Given the description of an element on the screen output the (x, y) to click on. 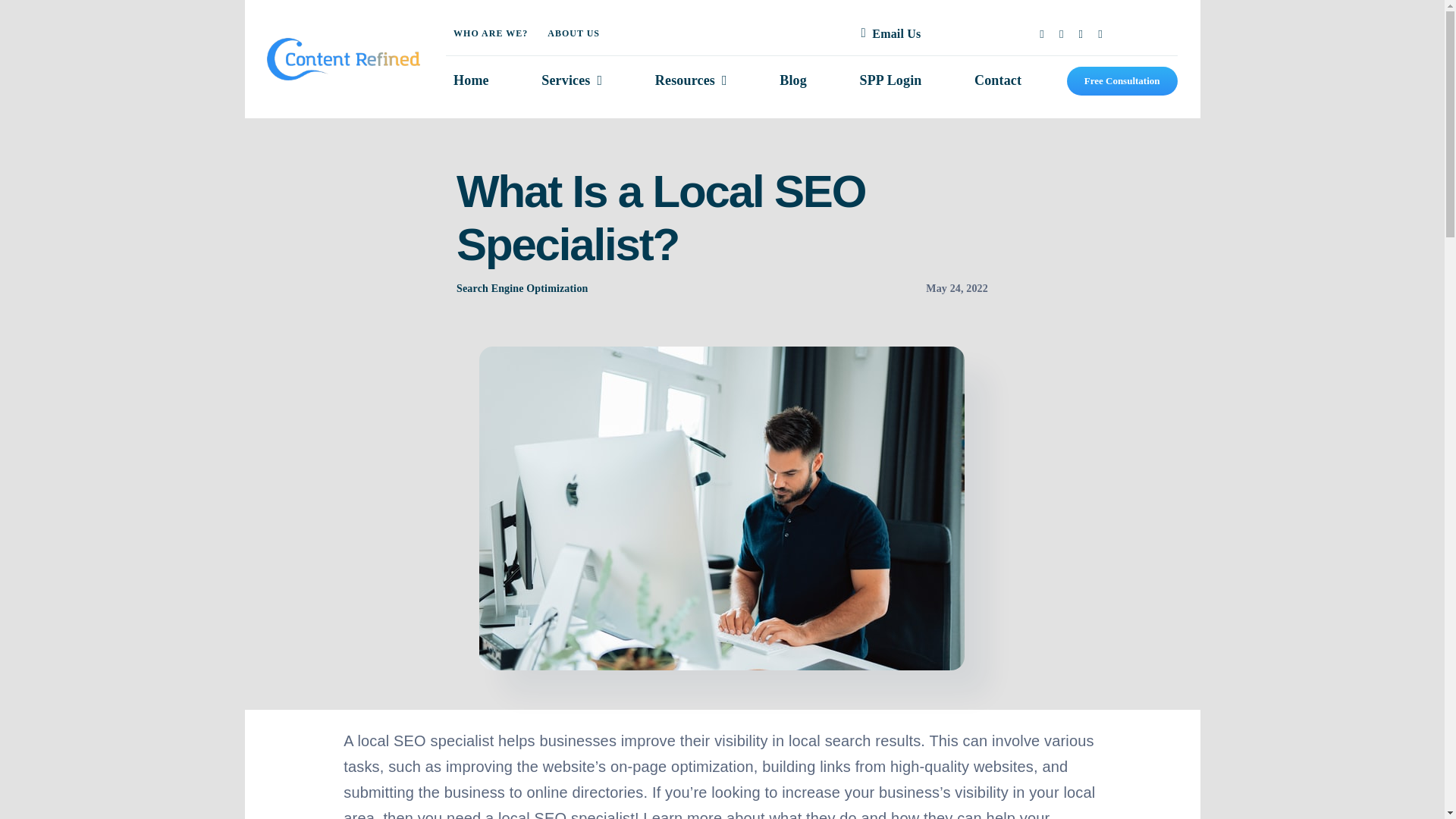
Contact (997, 81)
Search Engine Optimization (522, 288)
Blog (792, 81)
ABOUT US (573, 33)
Home (470, 81)
WHO ARE WE? (490, 33)
Resources (691, 81)
Email Us (887, 33)
Free Consultation (1122, 81)
SPP Login (890, 81)
Services (572, 81)
